Given the description of an element on the screen output the (x, y) to click on. 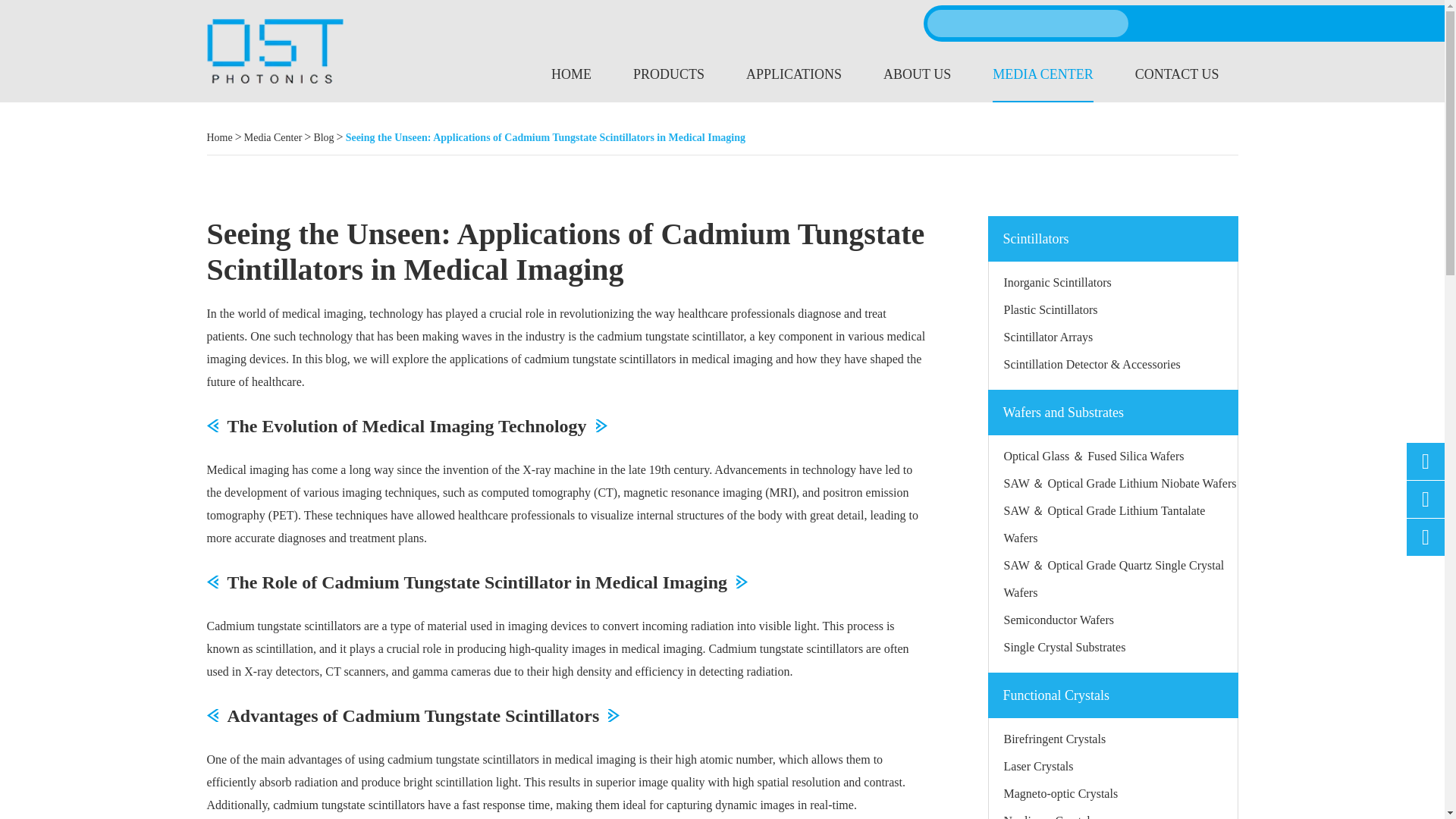
Media Center (273, 137)
Blog (323, 137)
